Given the description of an element on the screen output the (x, y) to click on. 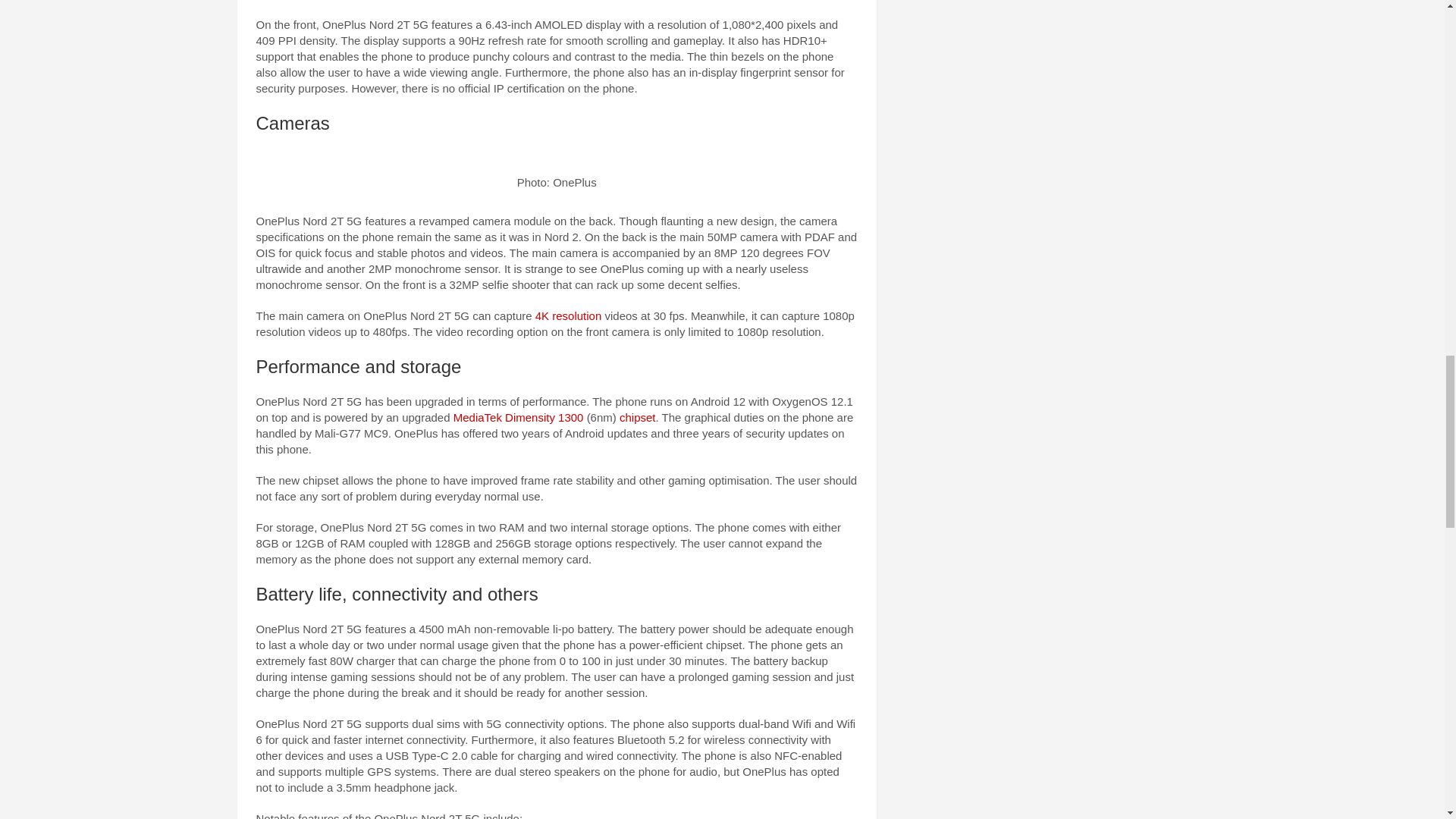
chipset (638, 417)
MediaTek Dimensity 1300 (519, 417)
4K resolution (568, 315)
